Given the description of an element on the screen output the (x, y) to click on. 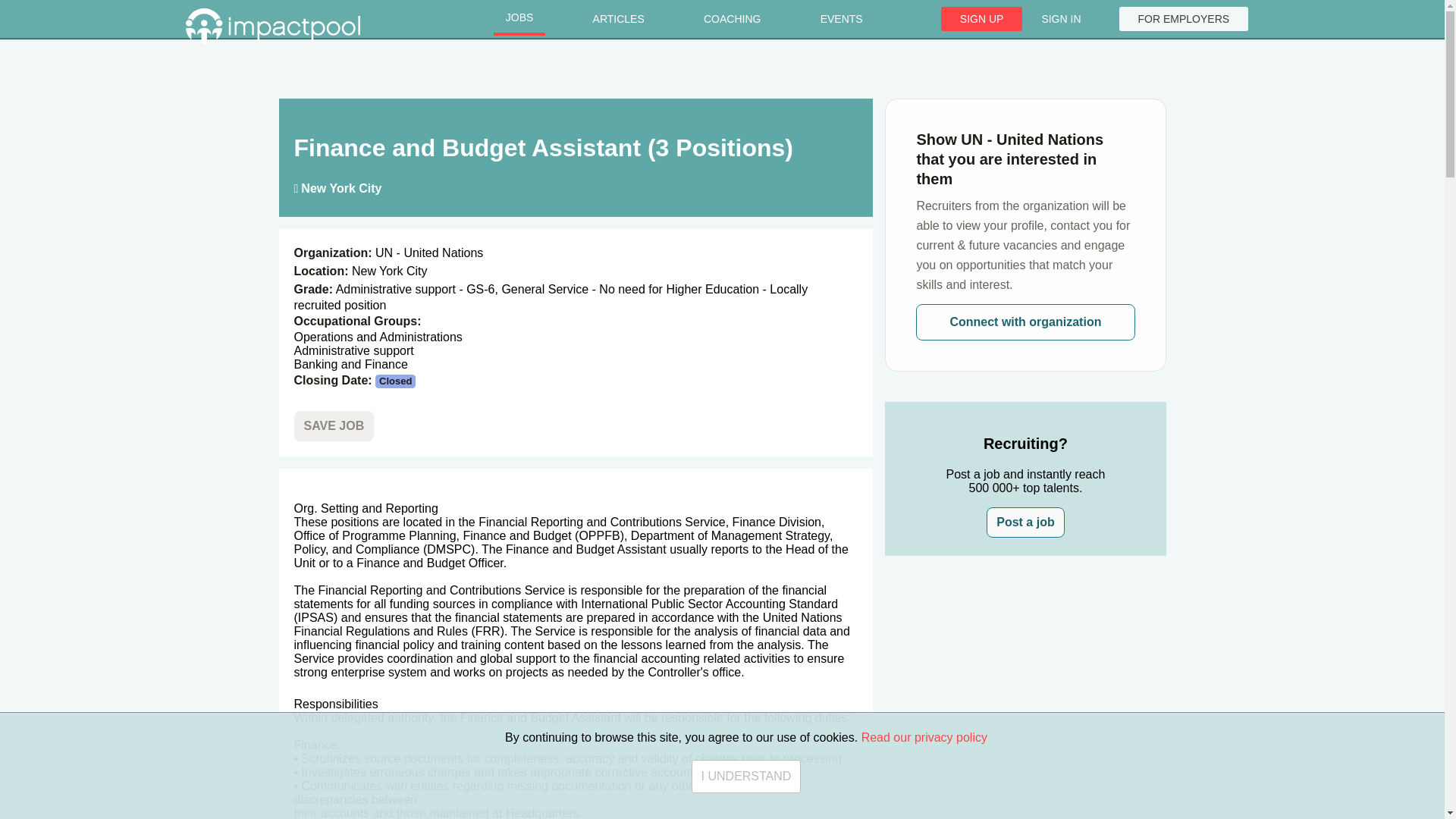
FOR EMPLOYERS (1184, 18)
Read our privacy policy (924, 816)
JOBS (519, 19)
SIGN IN (1060, 18)
ARTICLES (618, 19)
Connect with organization (1024, 321)
SIGN UP (981, 18)
EVENTS (841, 19)
SAVE JOB (334, 426)
Post a job (1025, 521)
COACHING (732, 19)
